Given the description of an element on the screen output the (x, y) to click on. 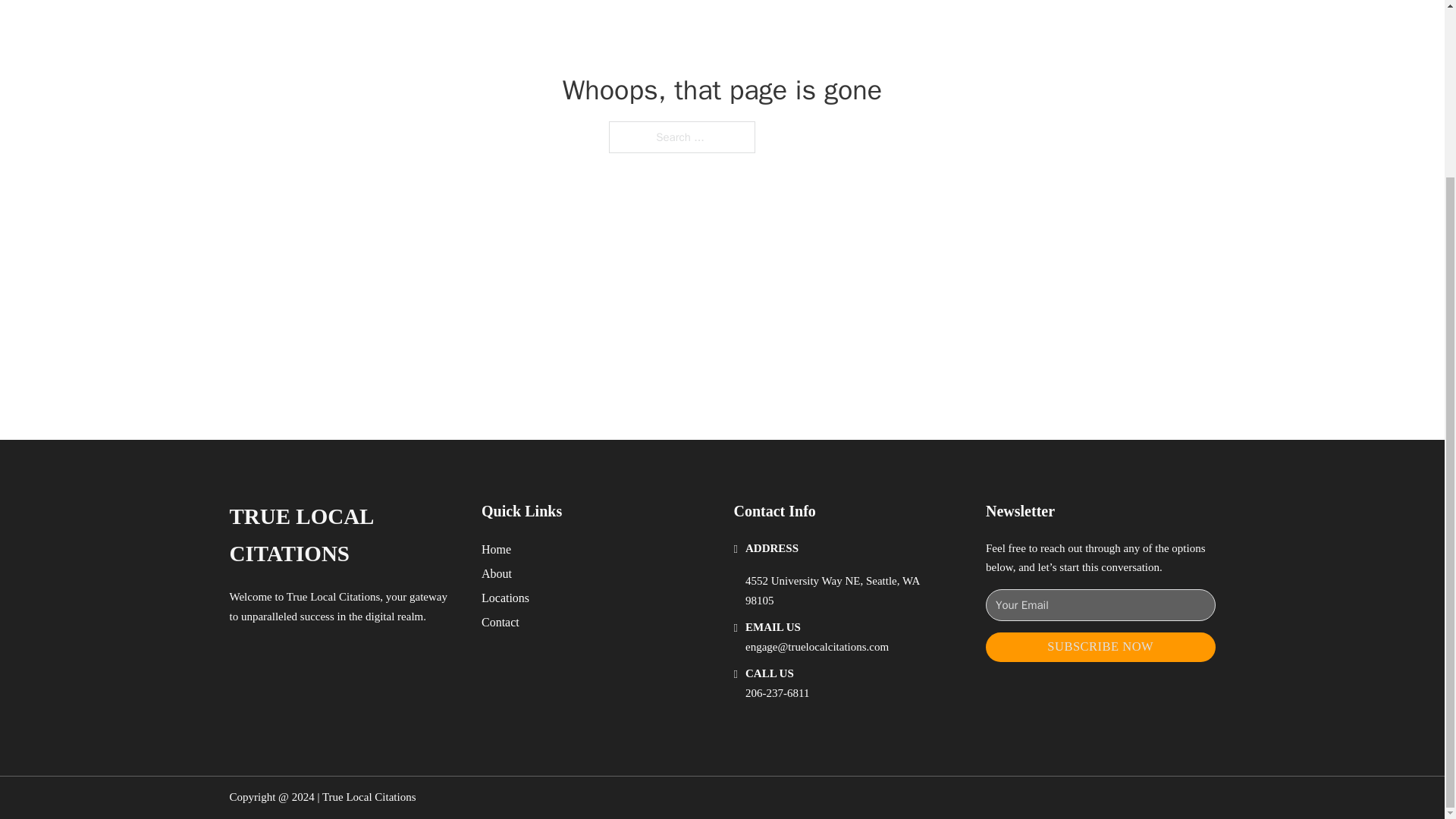
About (496, 573)
Home (496, 548)
Contact (500, 621)
Locations (505, 598)
TRUE LOCAL CITATIONS (343, 535)
206-237-6811 (777, 693)
SUBSCRIBE NOW (1100, 646)
